Given the description of an element on the screen output the (x, y) to click on. 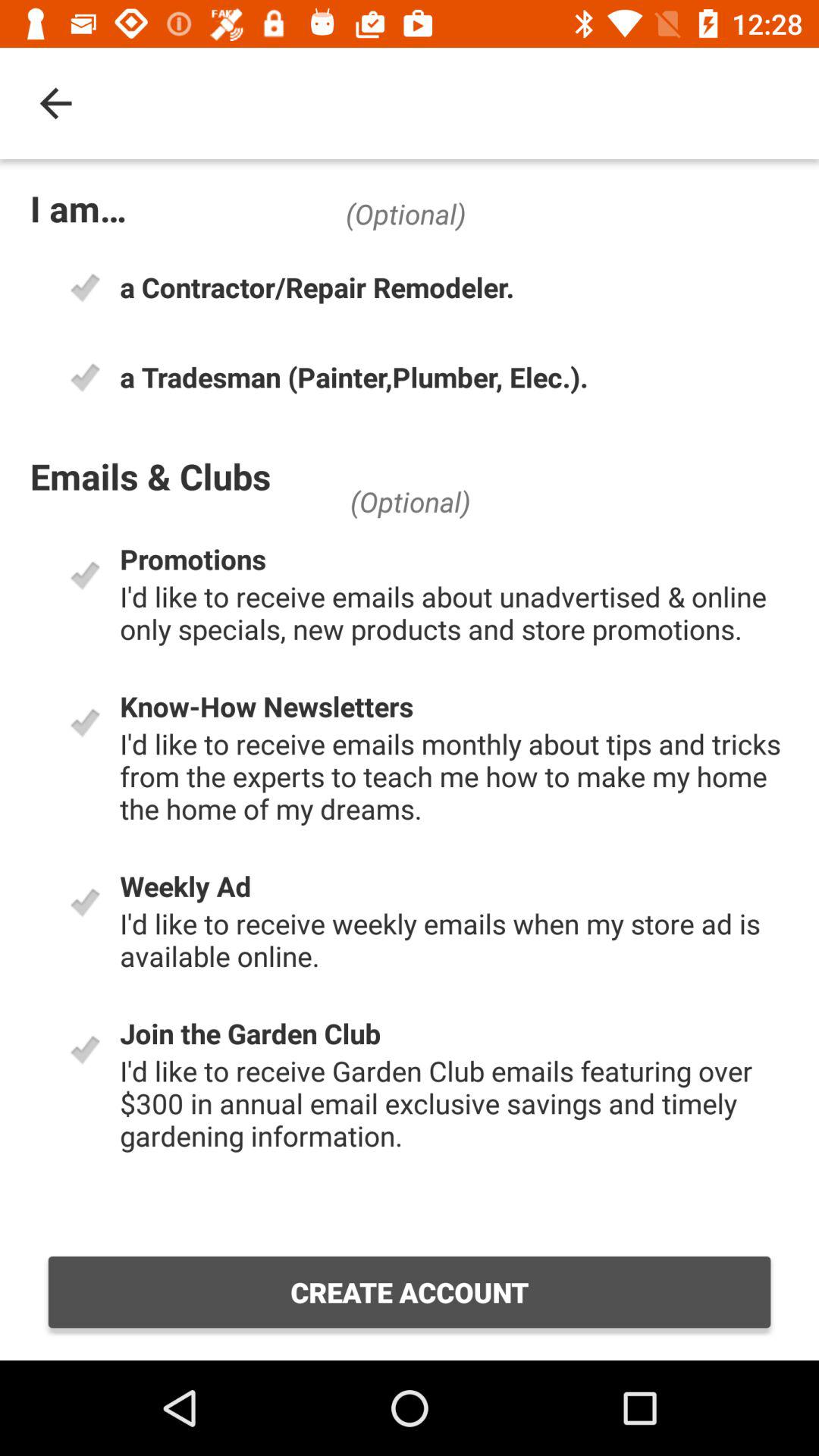
press the icon below i d like item (409, 1291)
